Given the description of an element on the screen output the (x, y) to click on. 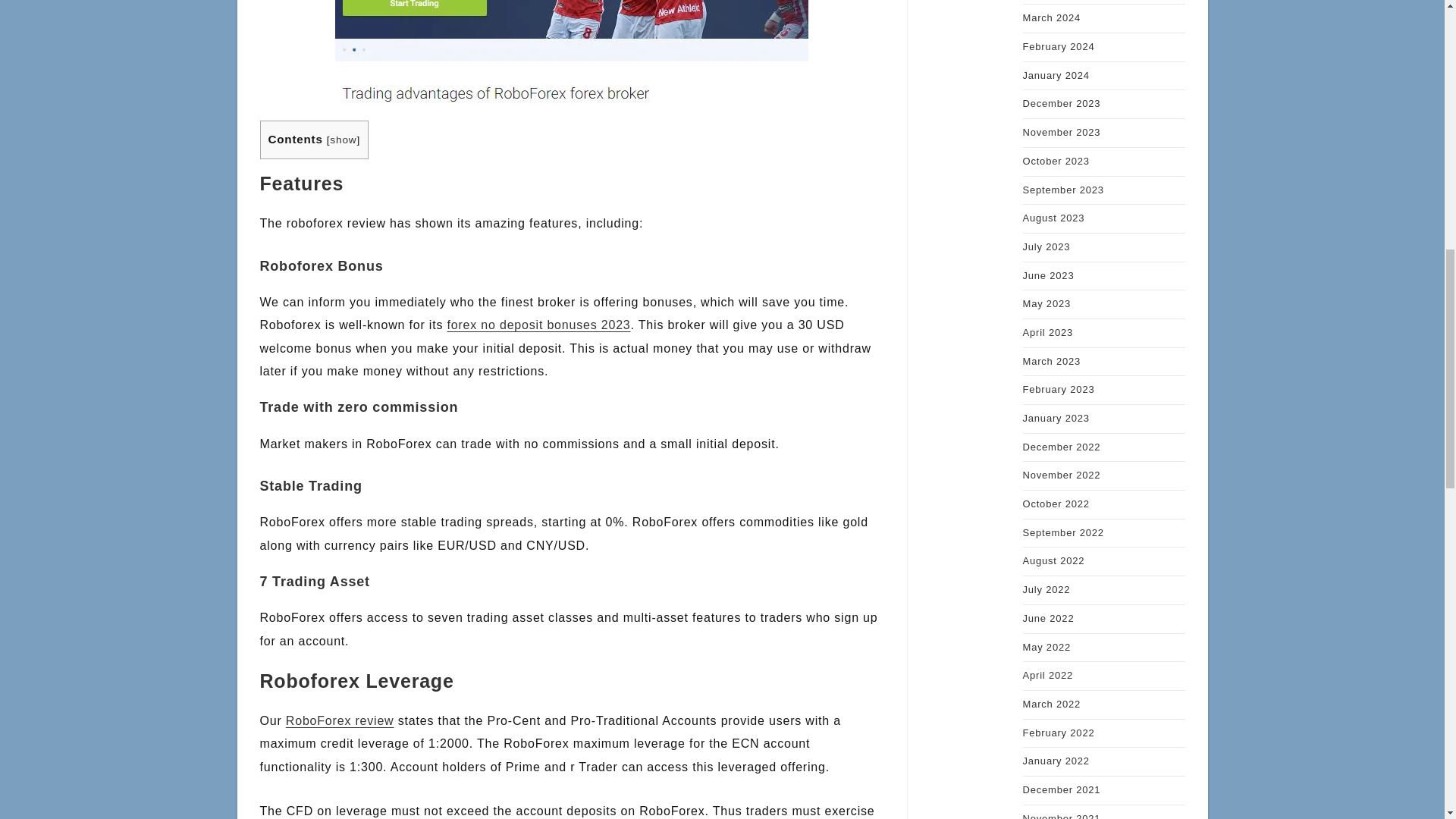
forex no deposit bonuses 2023 (538, 324)
RoboForex review (339, 720)
show (343, 139)
